Given the description of an element on the screen output the (x, y) to click on. 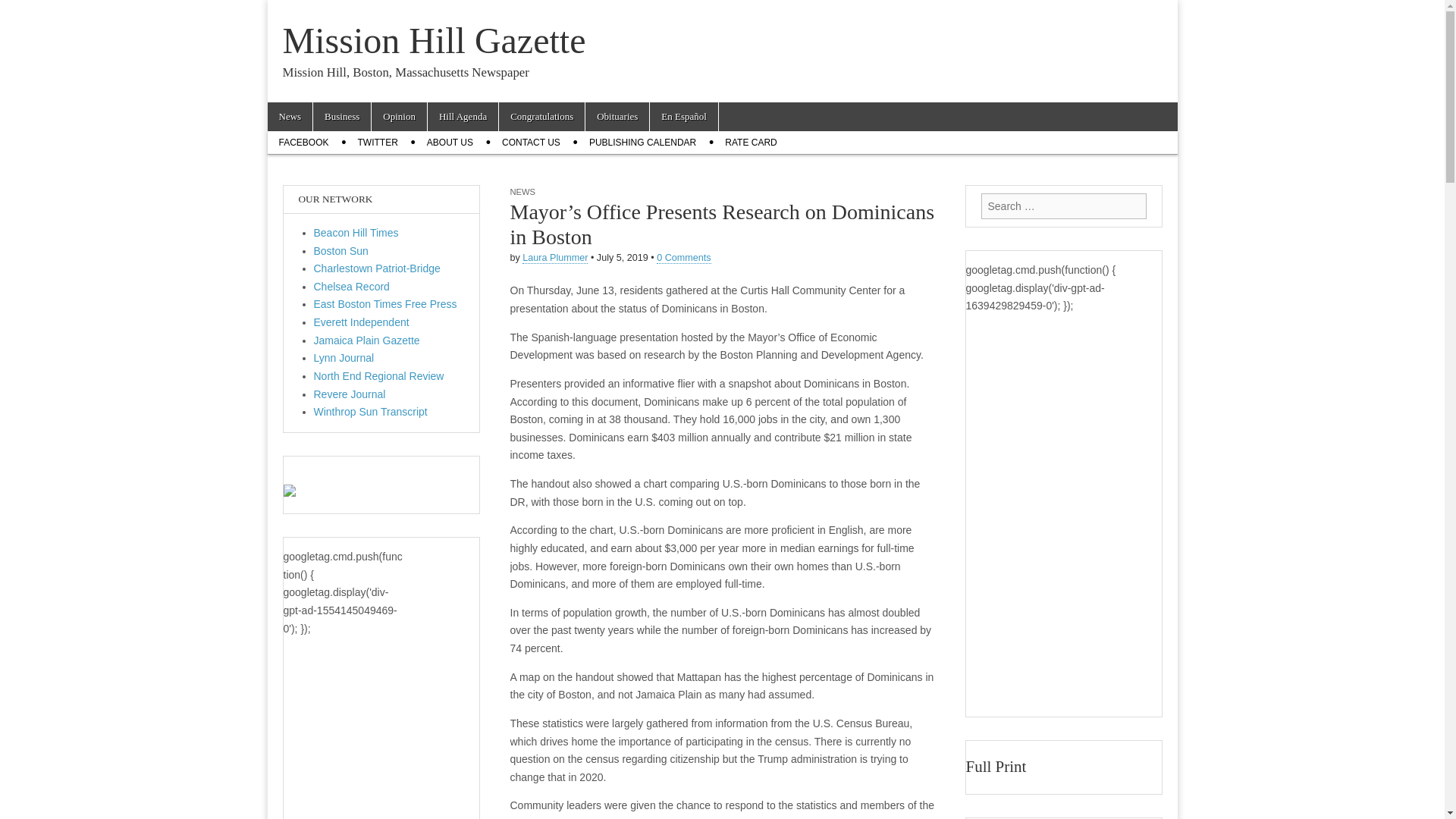
Business (342, 116)
Charlestown Patriot-Bridge (377, 268)
Hill Agenda (462, 116)
Search (23, 12)
Revere Journal (349, 394)
Opinion (398, 116)
East Boston Times Free Press (385, 304)
Posts by Laura Plummer (555, 257)
Congratulations (542, 116)
0 Comments (683, 257)
Mission Hill Gazette (433, 40)
NEWS (522, 191)
Jamaica Plain Gazette (367, 340)
